Given the description of an element on the screen output the (x, y) to click on. 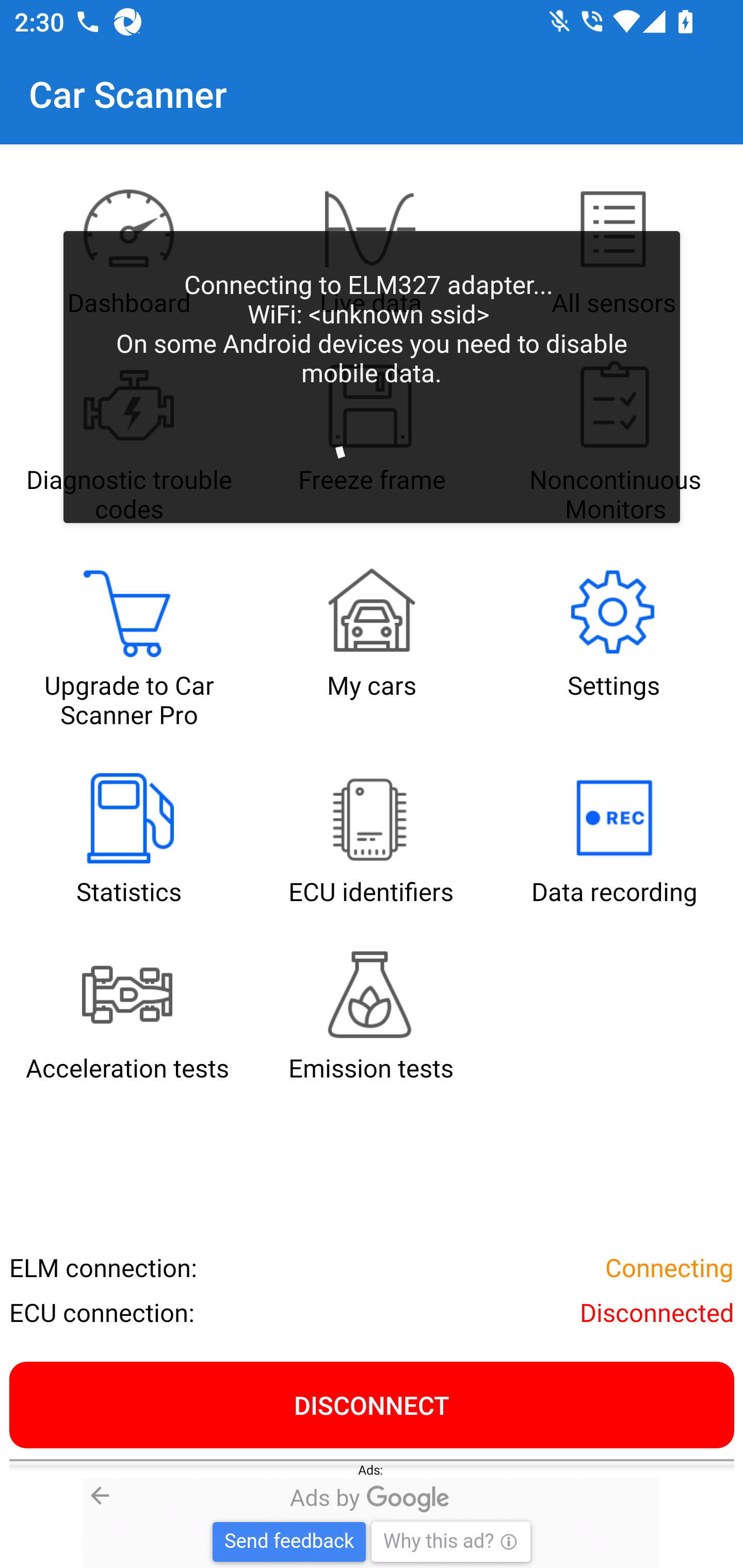
DISCONNECT (371, 1404)
